Given the description of an element on the screen output the (x, y) to click on. 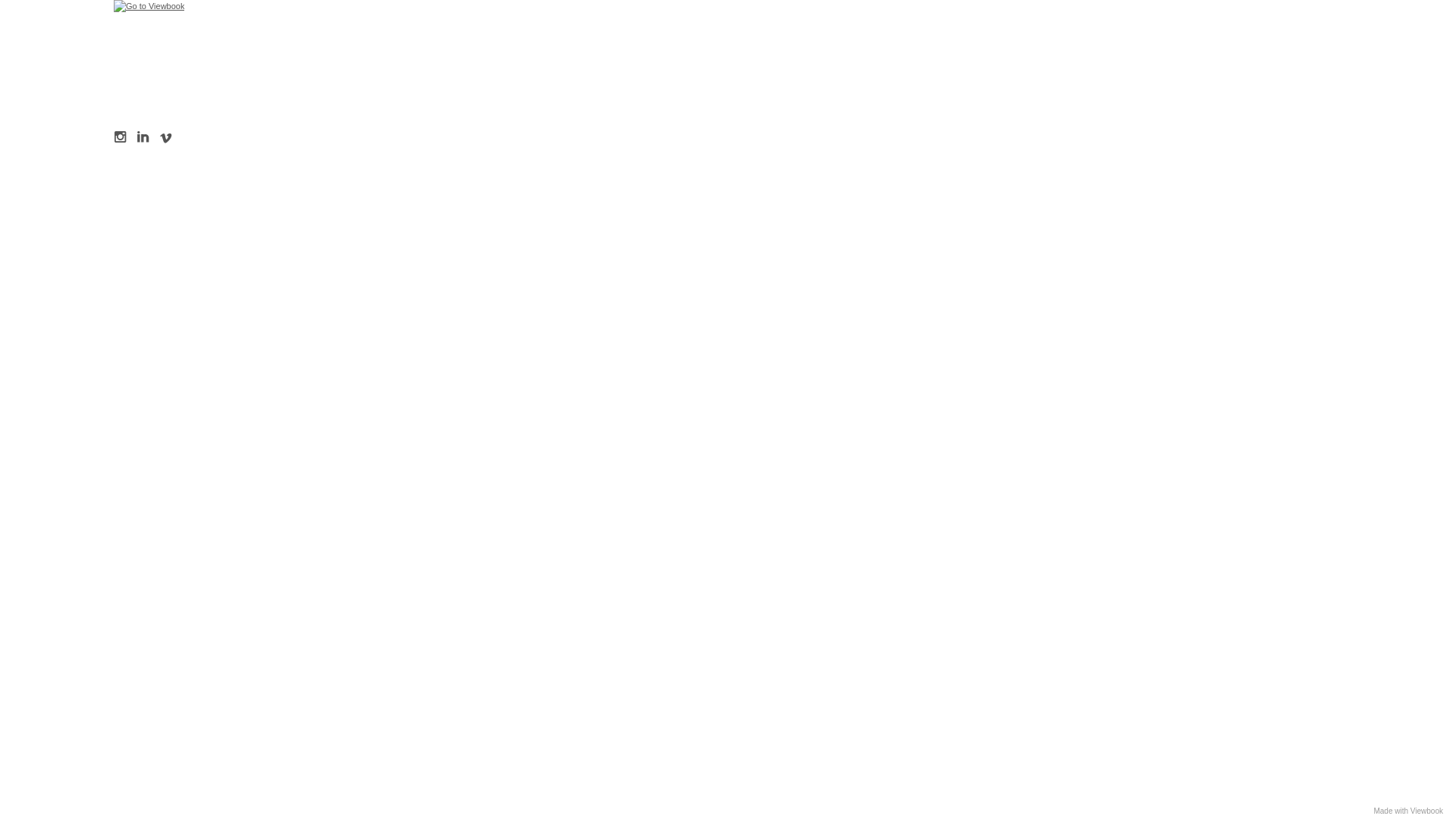
Made with Viewbook Element type: text (1408, 810)
